Given the description of an element on the screen output the (x, y) to click on. 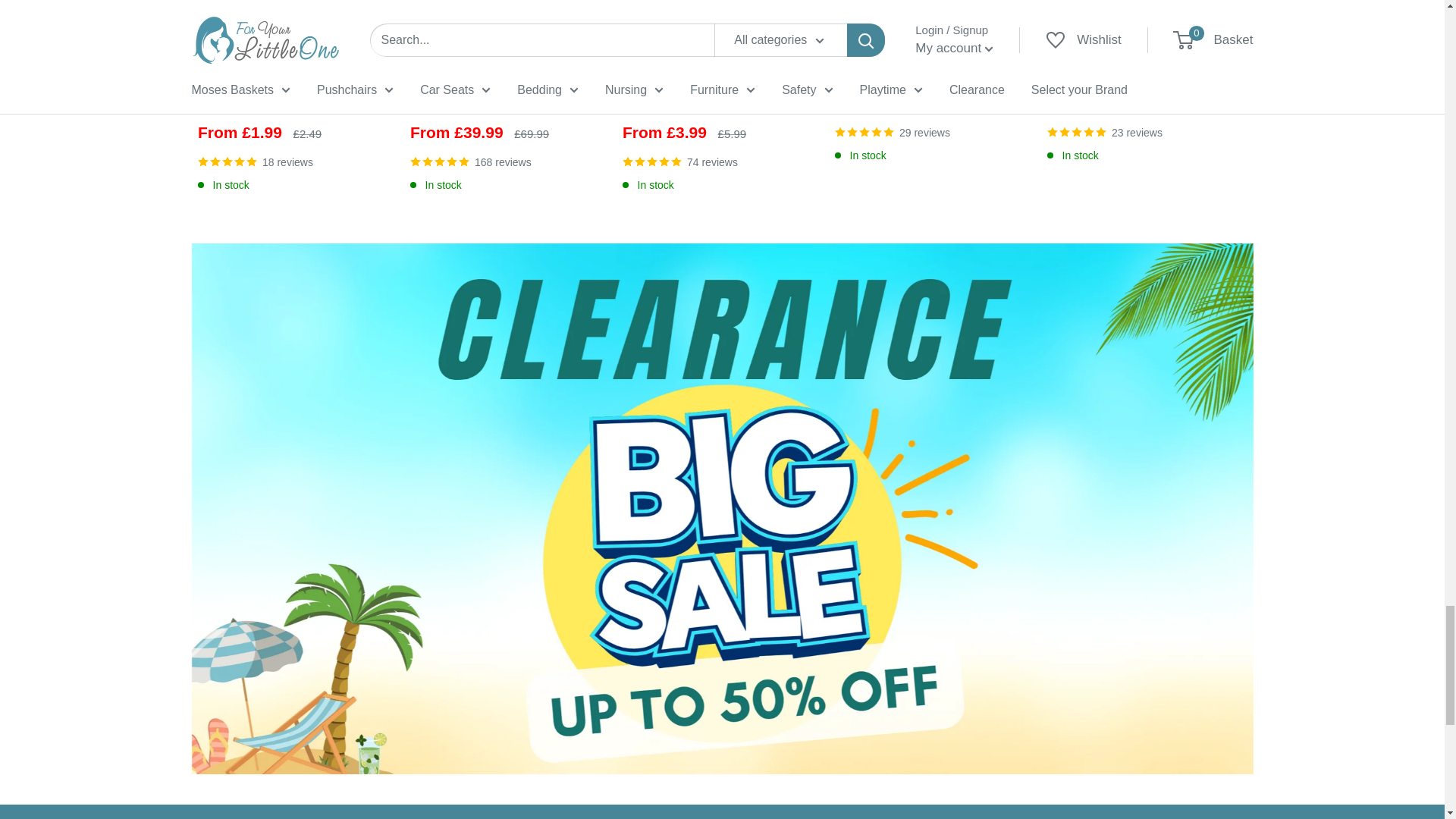
Grey Star (207, 101)
Happy Adventurer (228, 101)
Crosses (274, 101)
White (419, 101)
Blue (441, 101)
Unicorns (252, 101)
